Given the description of an element on the screen output the (x, y) to click on. 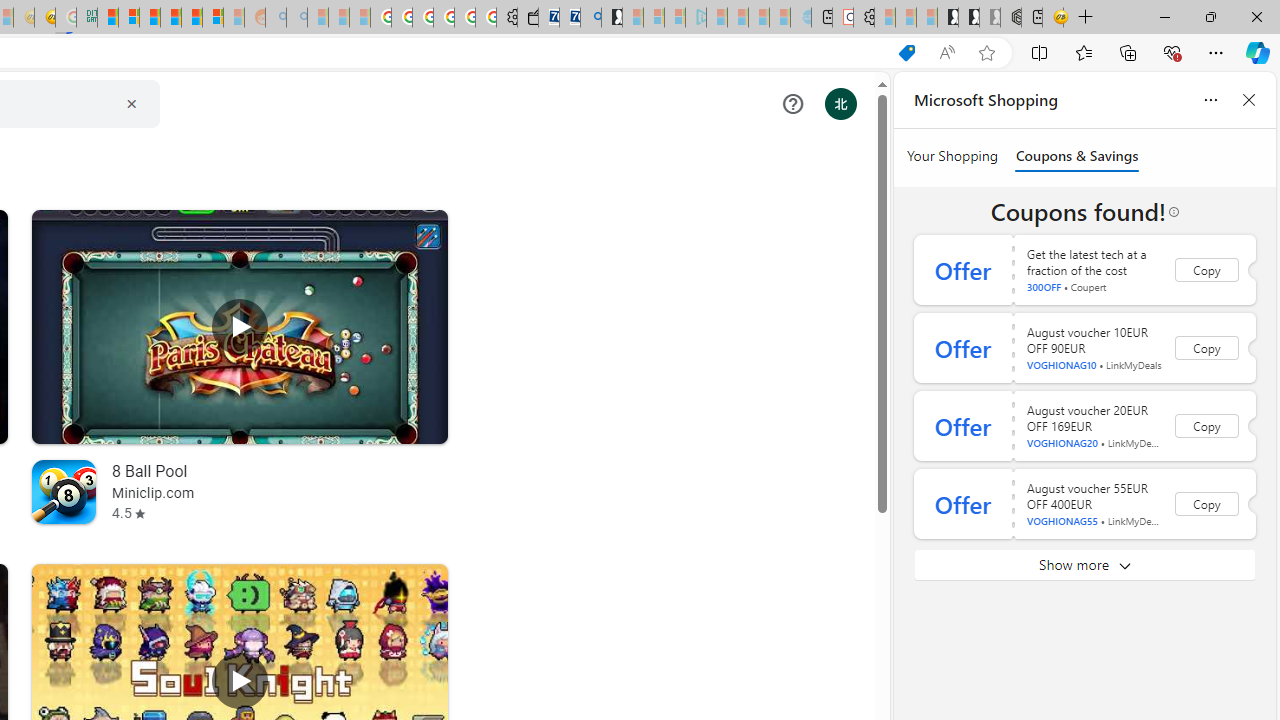
Cheap Car Rentals - Save70.com (569, 17)
Utah sues federal government - Search - Sleeping (296, 17)
Kinda Frugal - MSN (191, 17)
New tab (1031, 17)
Settings (863, 17)
Microsoft account | Privacy (129, 17)
Add this page to favorites (Ctrl+D) (986, 53)
DITOGAMES AG Imprint (86, 17)
